Given the description of an element on the screen output the (x, y) to click on. 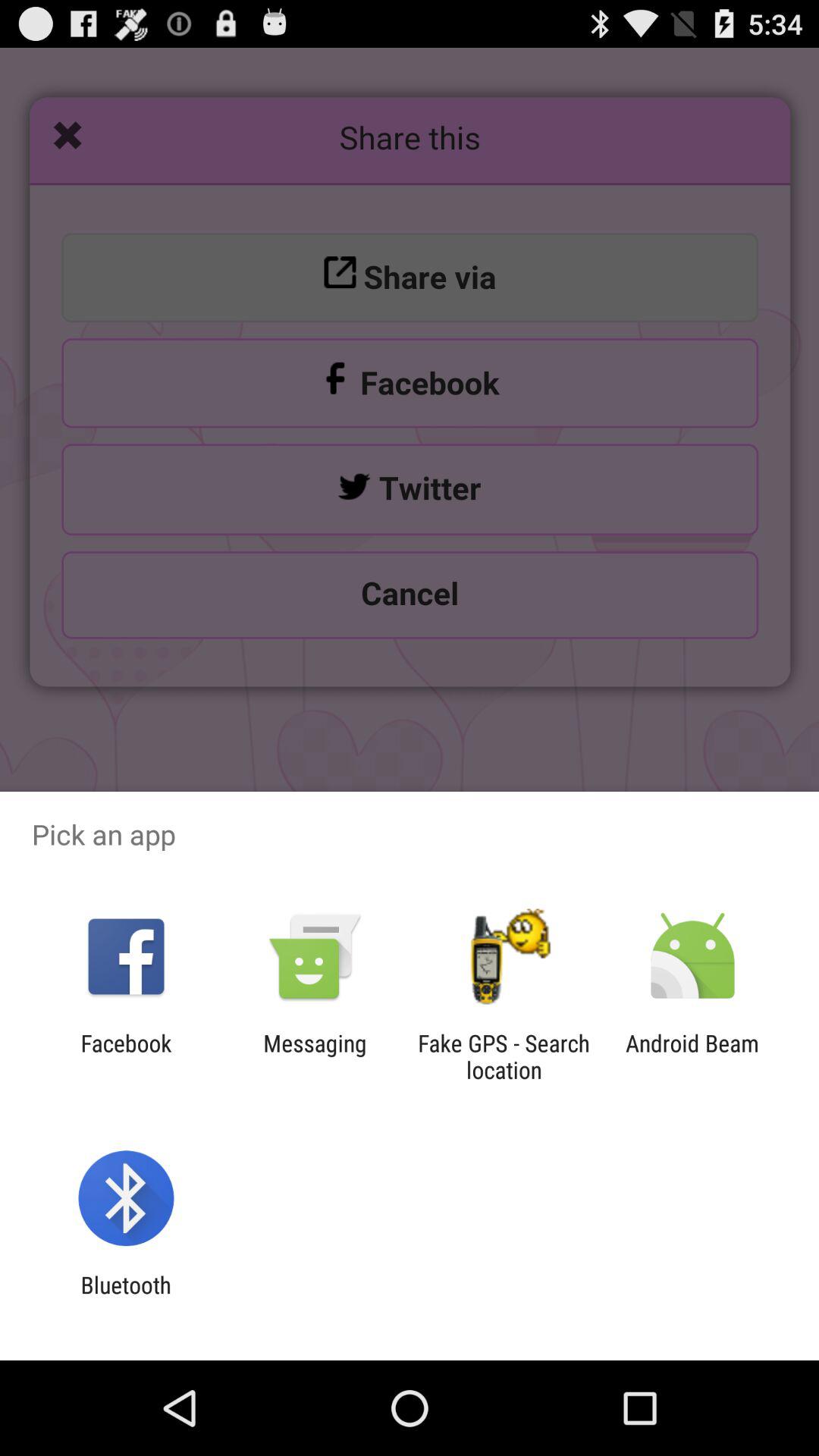
tap app to the left of the fake gps search app (314, 1056)
